Given the description of an element on the screen output the (x, y) to click on. 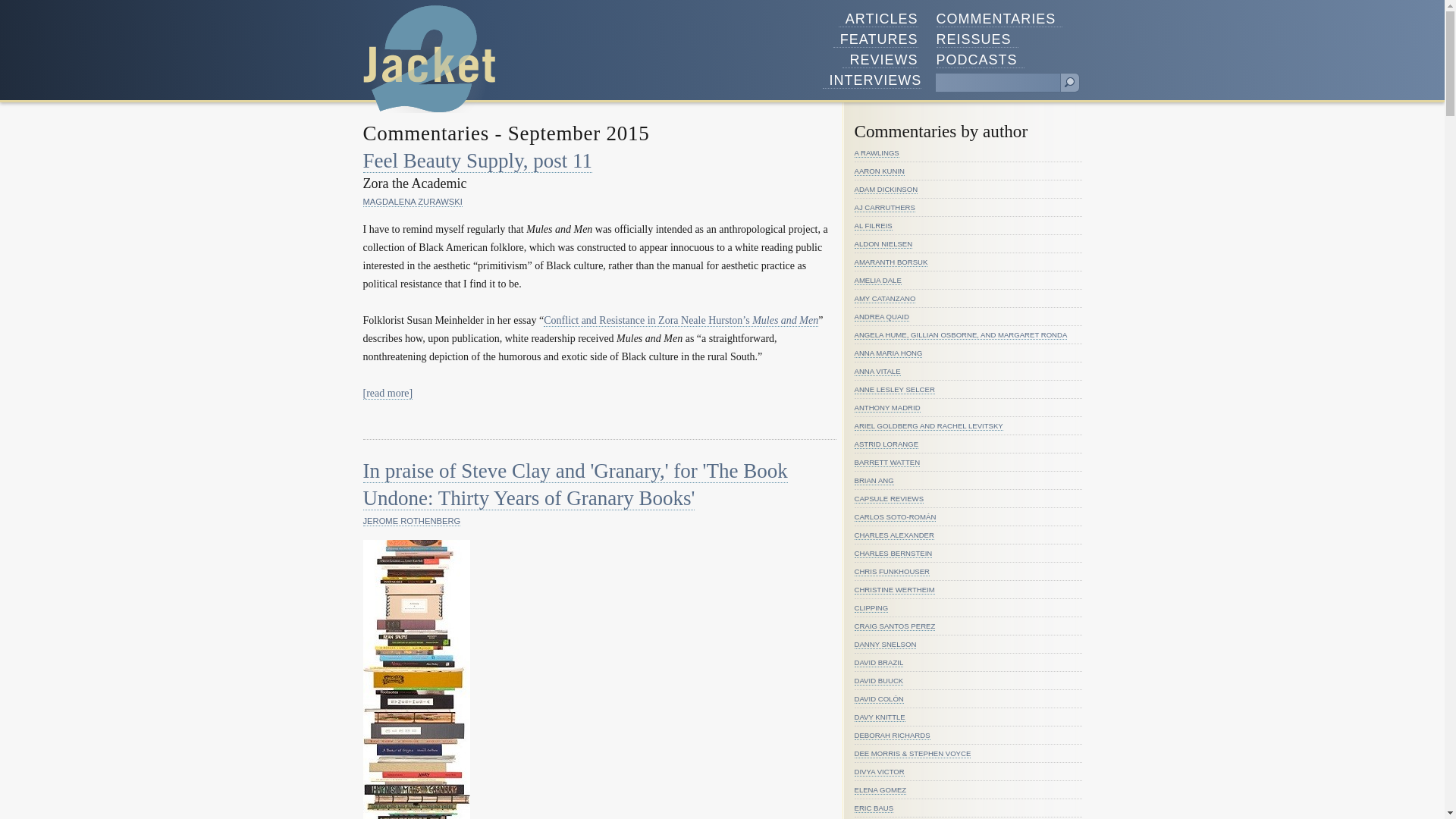
Search (1068, 82)
AMELIA DALE (877, 280)
ADAM DICKINSON (885, 189)
Jacket2 (429, 58)
AMARANTH BORSUK (890, 261)
PODCASTS (979, 59)
AJ CARRUTHERS (883, 207)
Home (429, 58)
REISSUES (976, 39)
read more (387, 393)
